Given the description of an element on the screen output the (x, y) to click on. 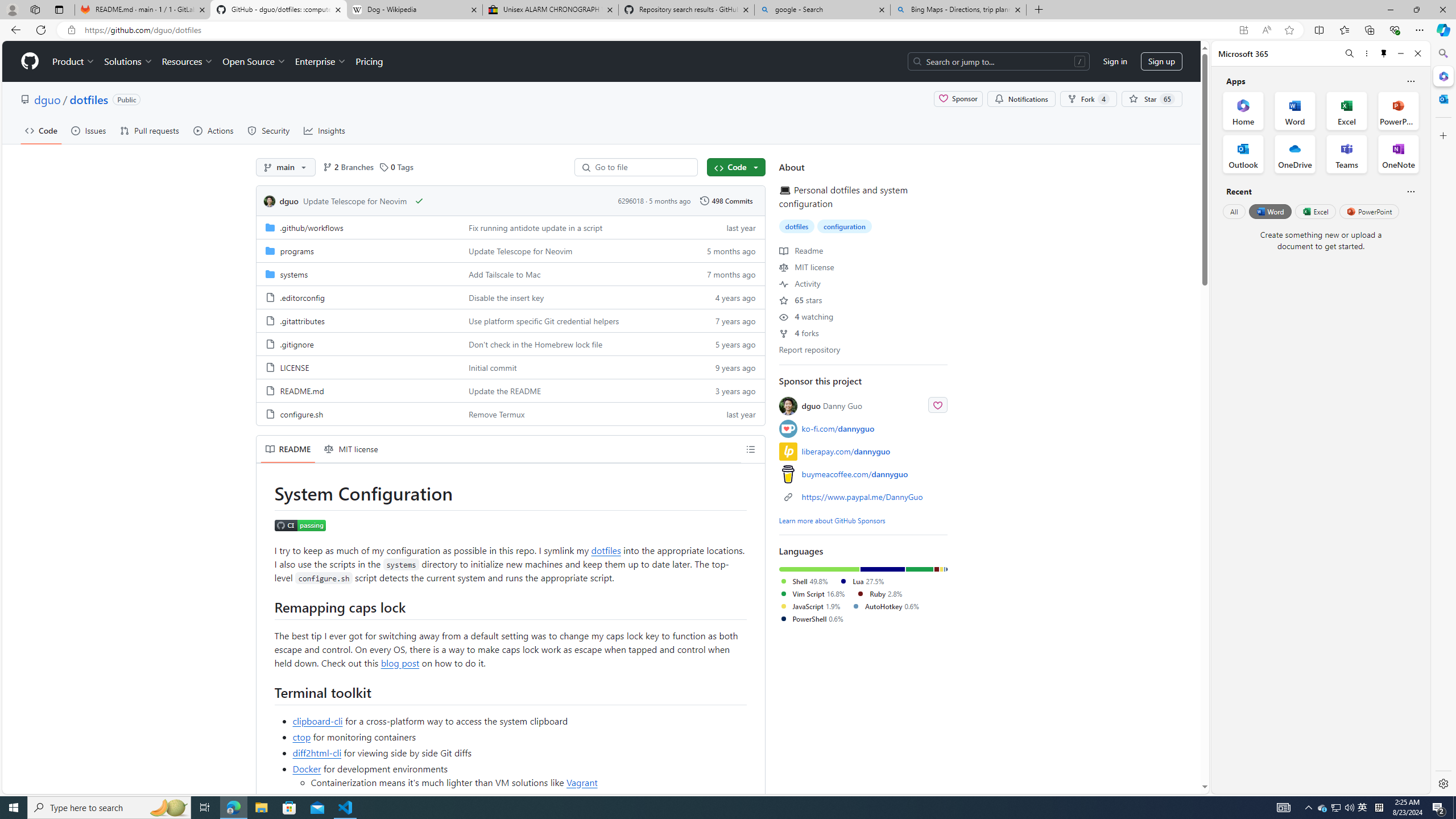
.gitignore, (File) (296, 343)
OneNote Office App (1398, 154)
dguo Danny Guo (830, 405)
PowerPoint (1369, 210)
MIT license (351, 449)
dguo (269, 201)
Fork 4 (1087, 98)
systems, (Directory) (358, 273)
You must be signed in to change notification settings (1021, 98)
.editorconfig, (File) (301, 297)
LICENSE, (File) (358, 366)
7 months ago (725, 273)
AutomationID: folder-row-2 (510, 273)
Supported by many CI services (528, 798)
Update Telescope for Neovim (520, 250)
